Given the description of an element on the screen output the (x, y) to click on. 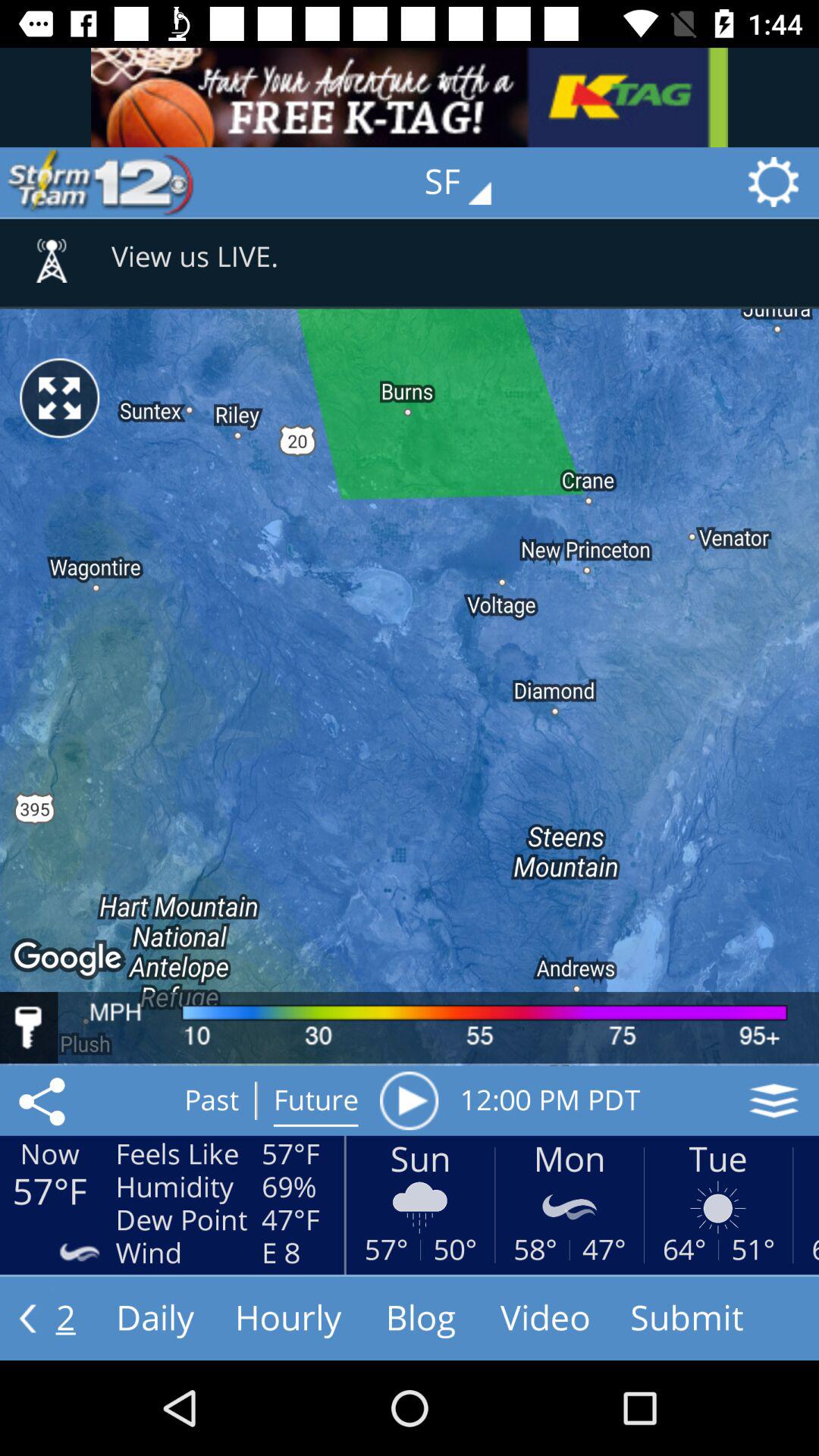
tap the icon next to 12 00 pm icon (409, 1100)
